Given the description of an element on the screen output the (x, y) to click on. 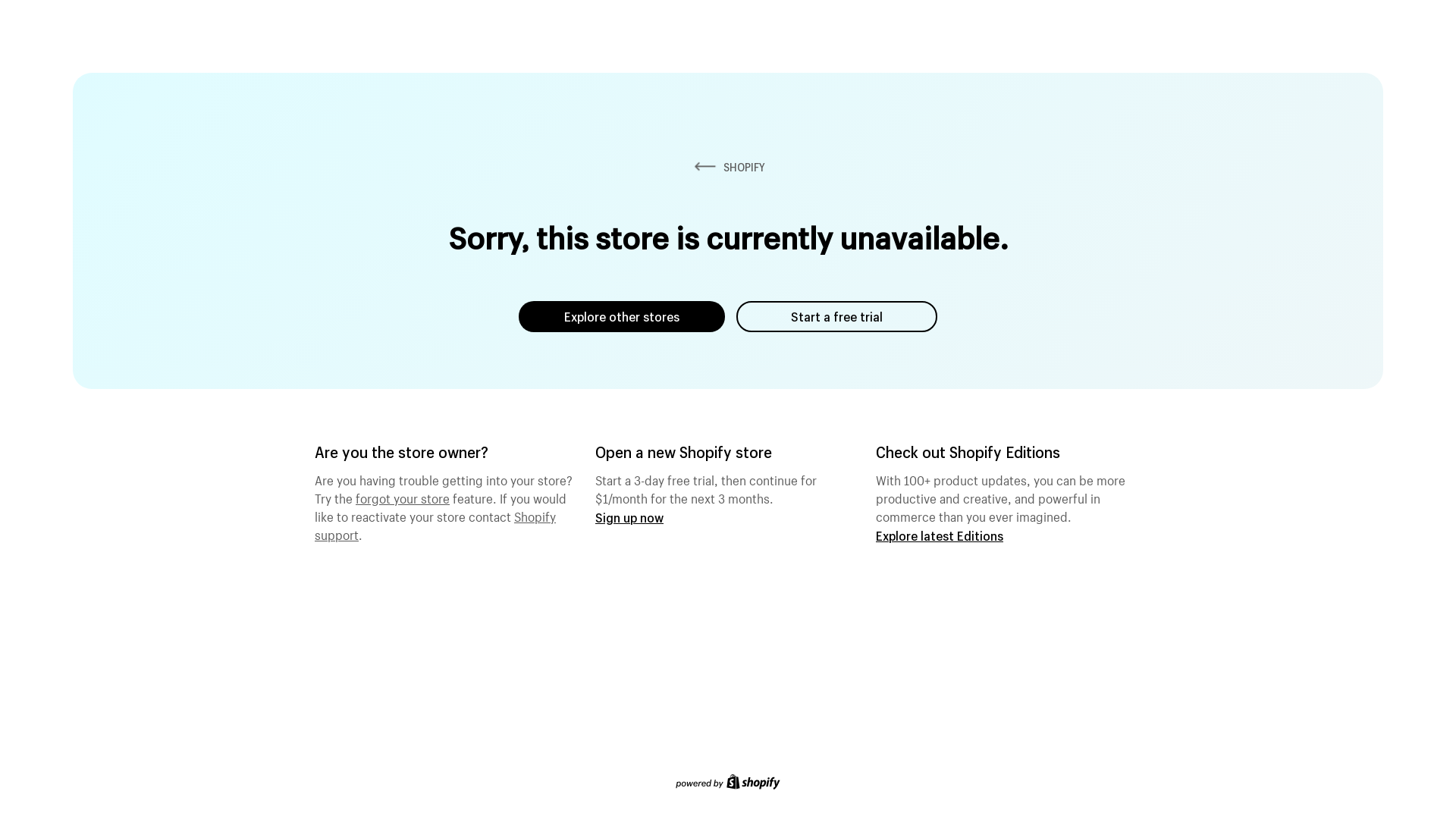
Sign up now Element type: text (629, 517)
Start a free trial Element type: text (836, 316)
Explore other stores Element type: text (621, 316)
Shopify support Element type: text (434, 523)
SHOPIFY Element type: text (727, 167)
forgot your store Element type: text (402, 496)
Explore latest Editions Element type: text (939, 535)
